Given the description of an element on the screen output the (x, y) to click on. 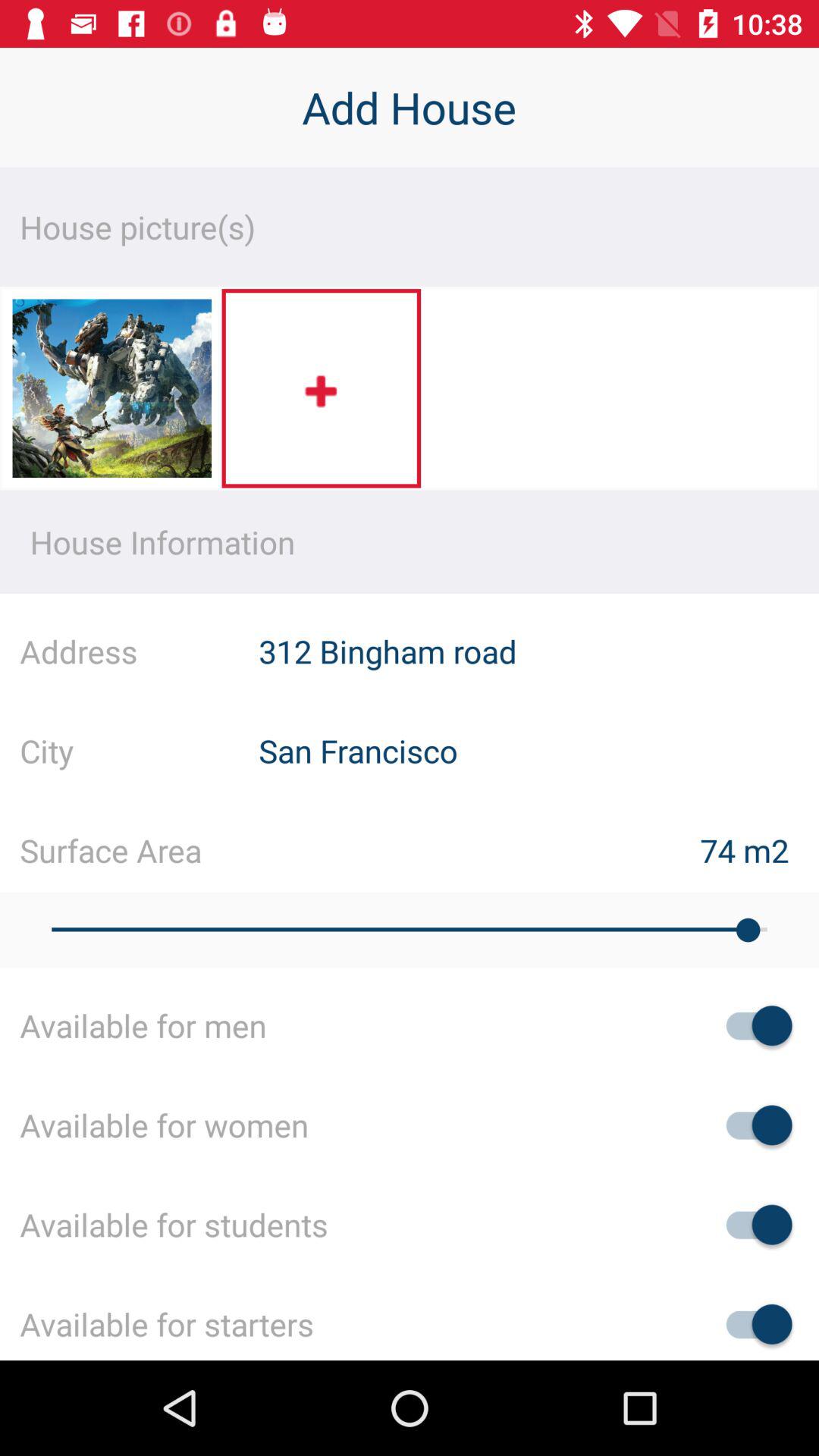
open the item above the house information (320, 387)
